Given the description of an element on the screen output the (x, y) to click on. 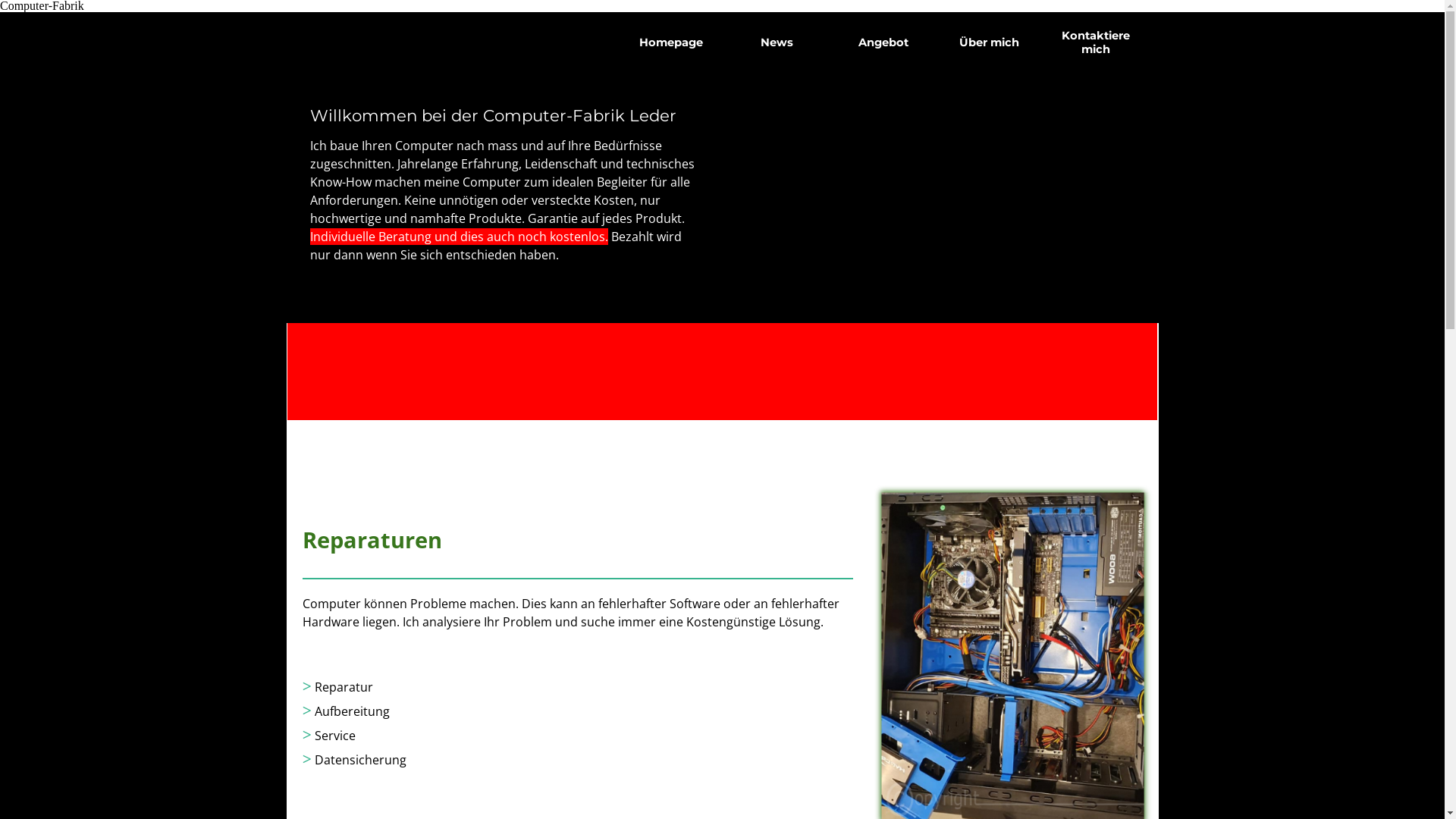
Kontaktiere mich Element type: text (1094, 42)
News Element type: text (776, 42)
Homepage Element type: text (669, 42)
